Given the description of an element on the screen output the (x, y) to click on. 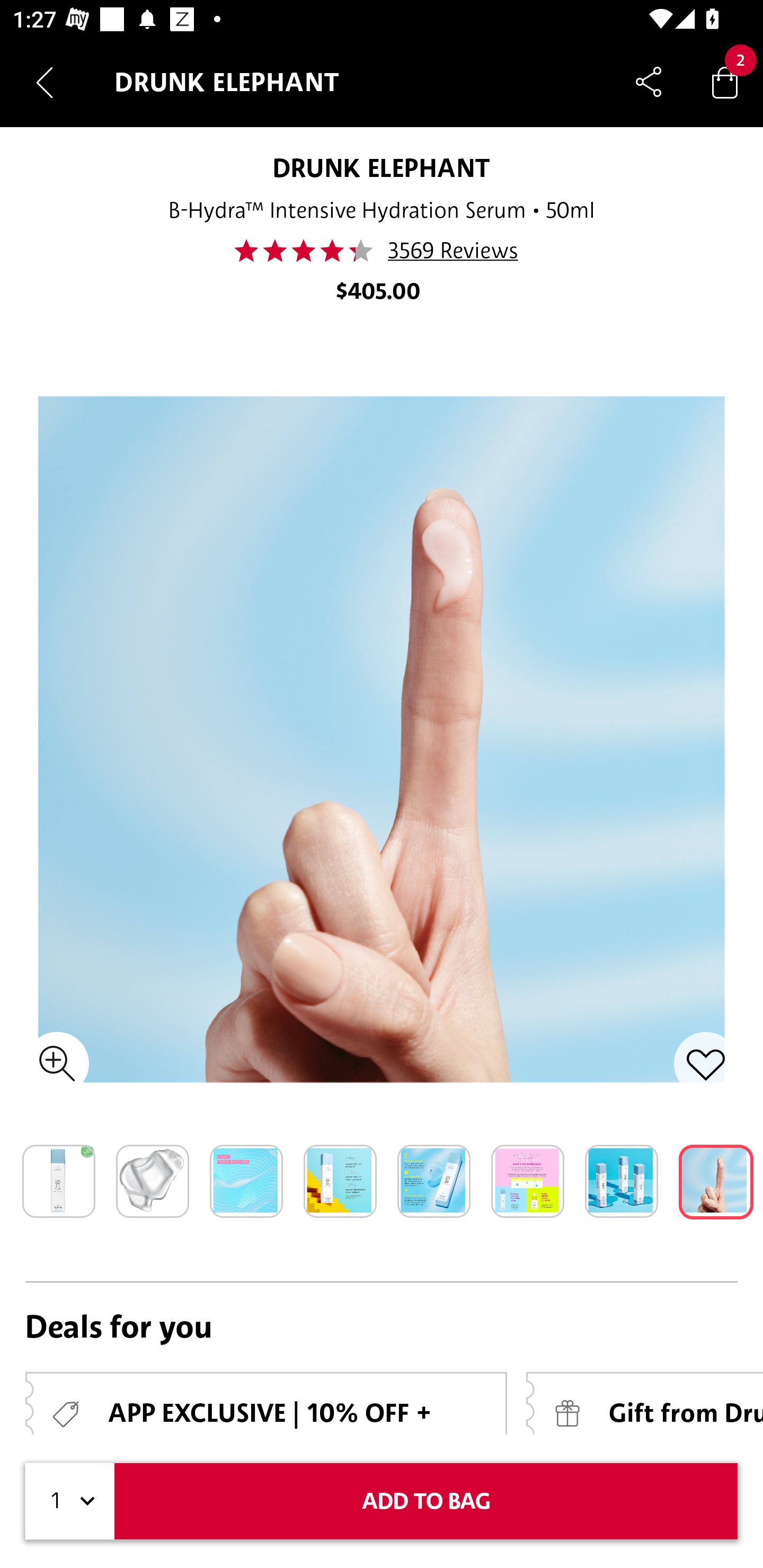
Navigate up (44, 82)
Share (648, 81)
Bag (724, 81)
DRUNK ELEPHANT (381, 167)
43.0 3569 Reviews (381, 250)
1 (69, 1500)
ADD TO BAG (425, 1500)
